Given the description of an element on the screen output the (x, y) to click on. 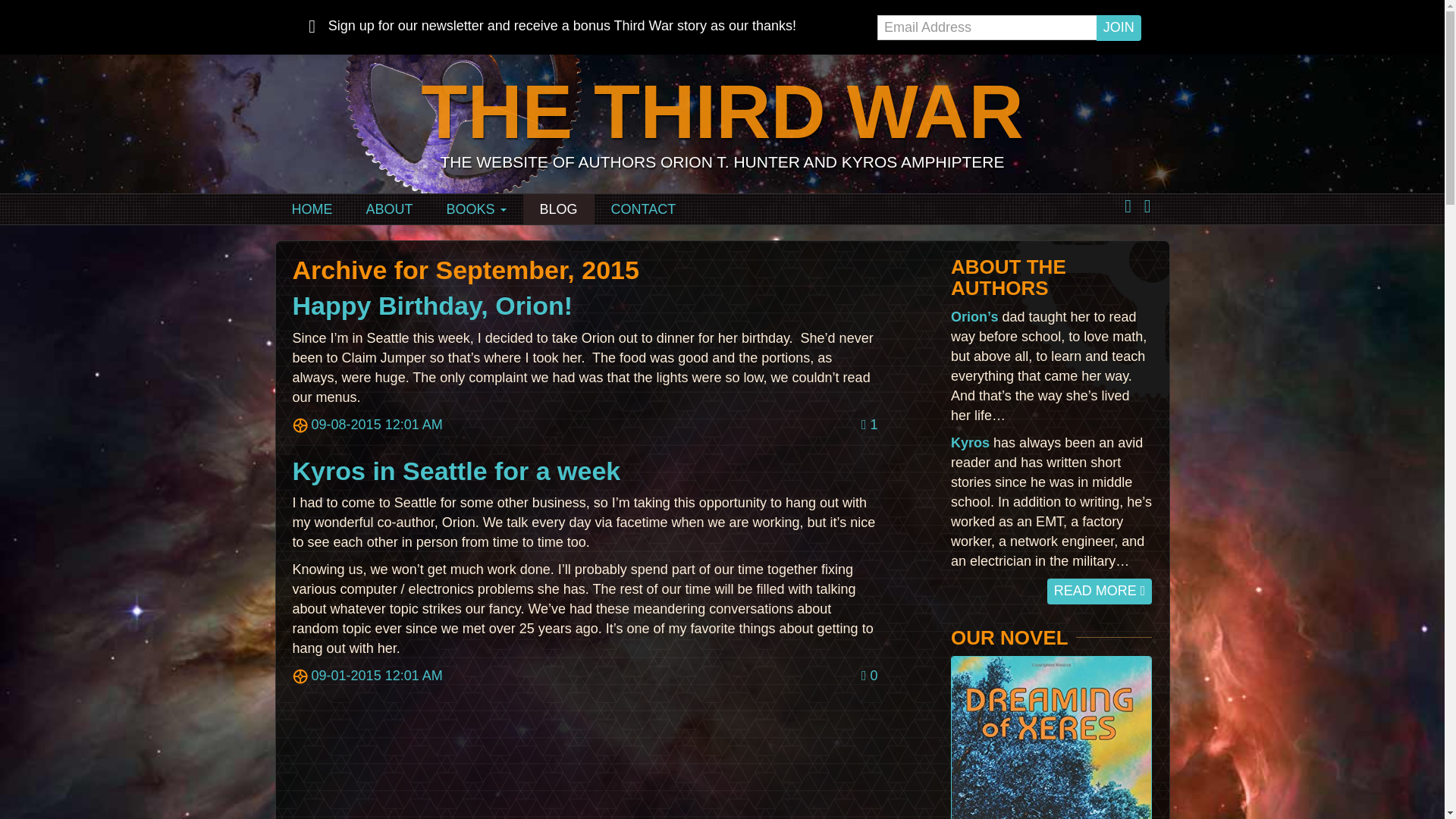
BLOG (558, 209)
Blog (558, 209)
Books (475, 209)
ABOUT (389, 209)
09-08-2015 12:01 AM (367, 424)
READ MORE (1099, 591)
BOOKS (475, 209)
Happy Birthday, Orion! (432, 305)
HOME (312, 209)
CONTACT (643, 209)
